Given the description of an element on the screen output the (x, y) to click on. 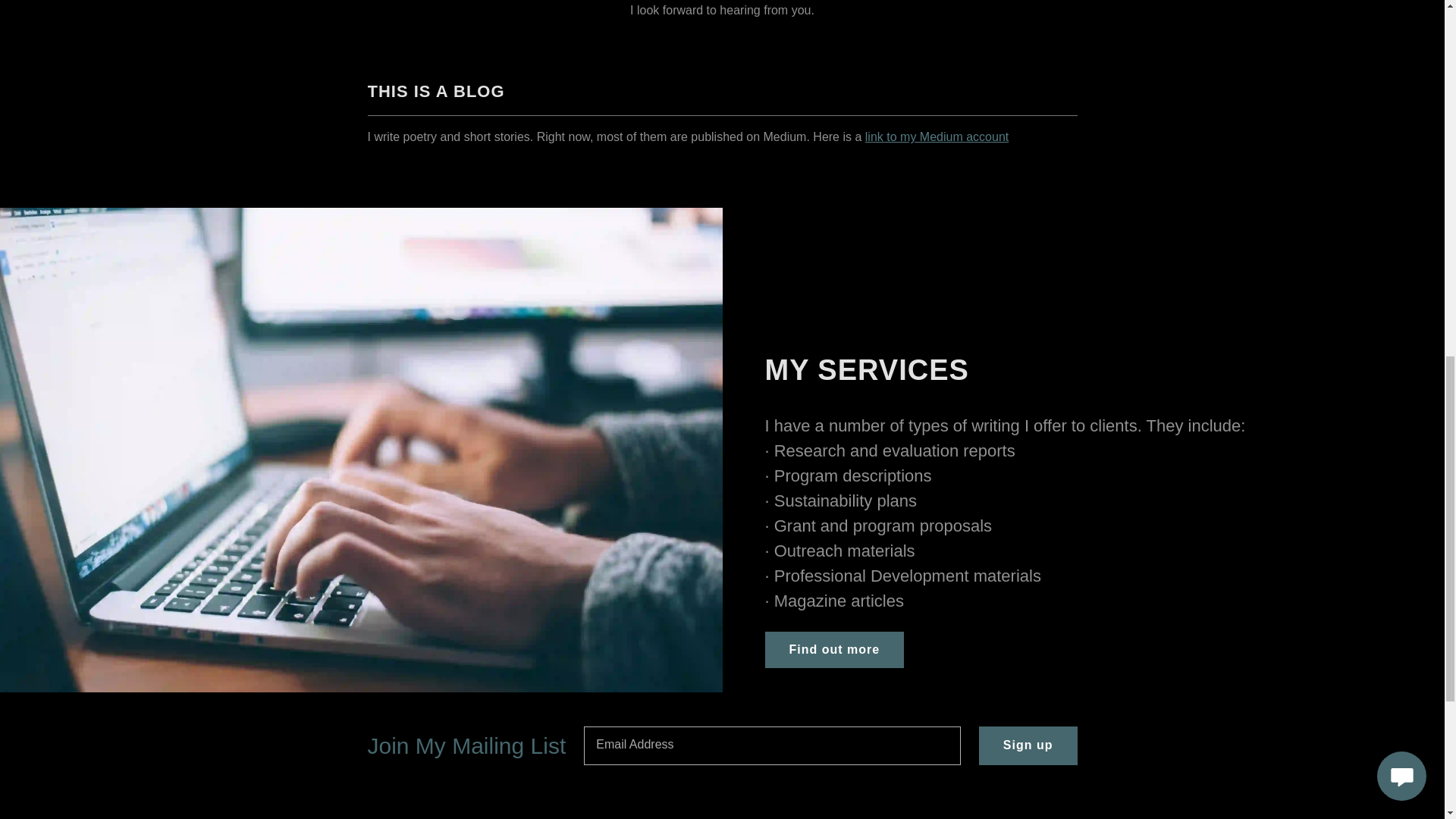
Find out more (834, 649)
link to my Medium account (936, 136)
Sign up (1027, 745)
